Given the description of an element on the screen output the (x, y) to click on. 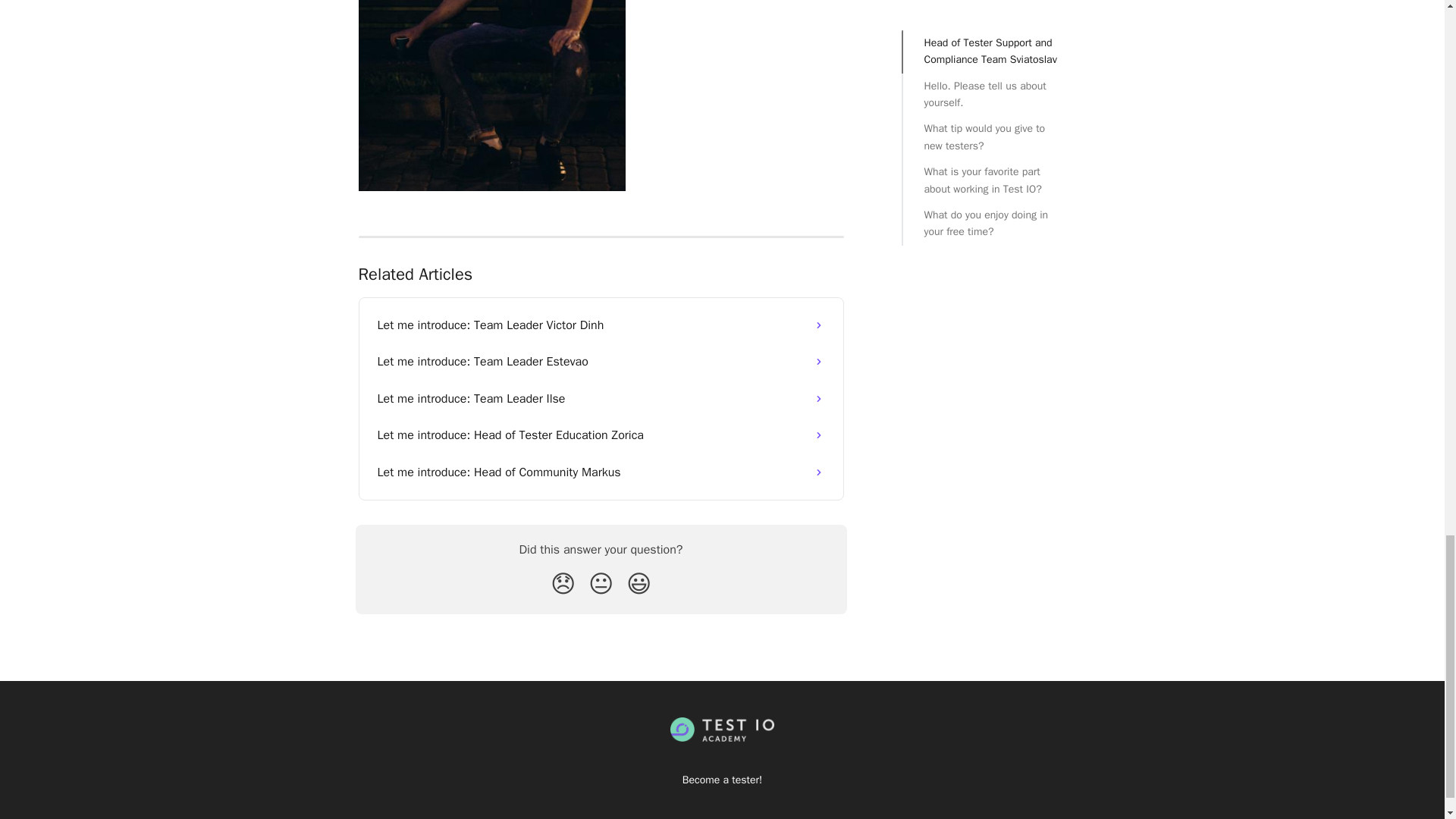
Let me introduce: Team Leader Victor Dinh (601, 325)
Let me introduce: Team Leader Estevao (601, 361)
Let me introduce: Team Leader Ilse (601, 398)
Become a tester! (721, 779)
Let me introduce: Head of Community Markus (601, 472)
Let me introduce: Head of Tester Education Zorica (601, 434)
